Given the description of an element on the screen output the (x, y) to click on. 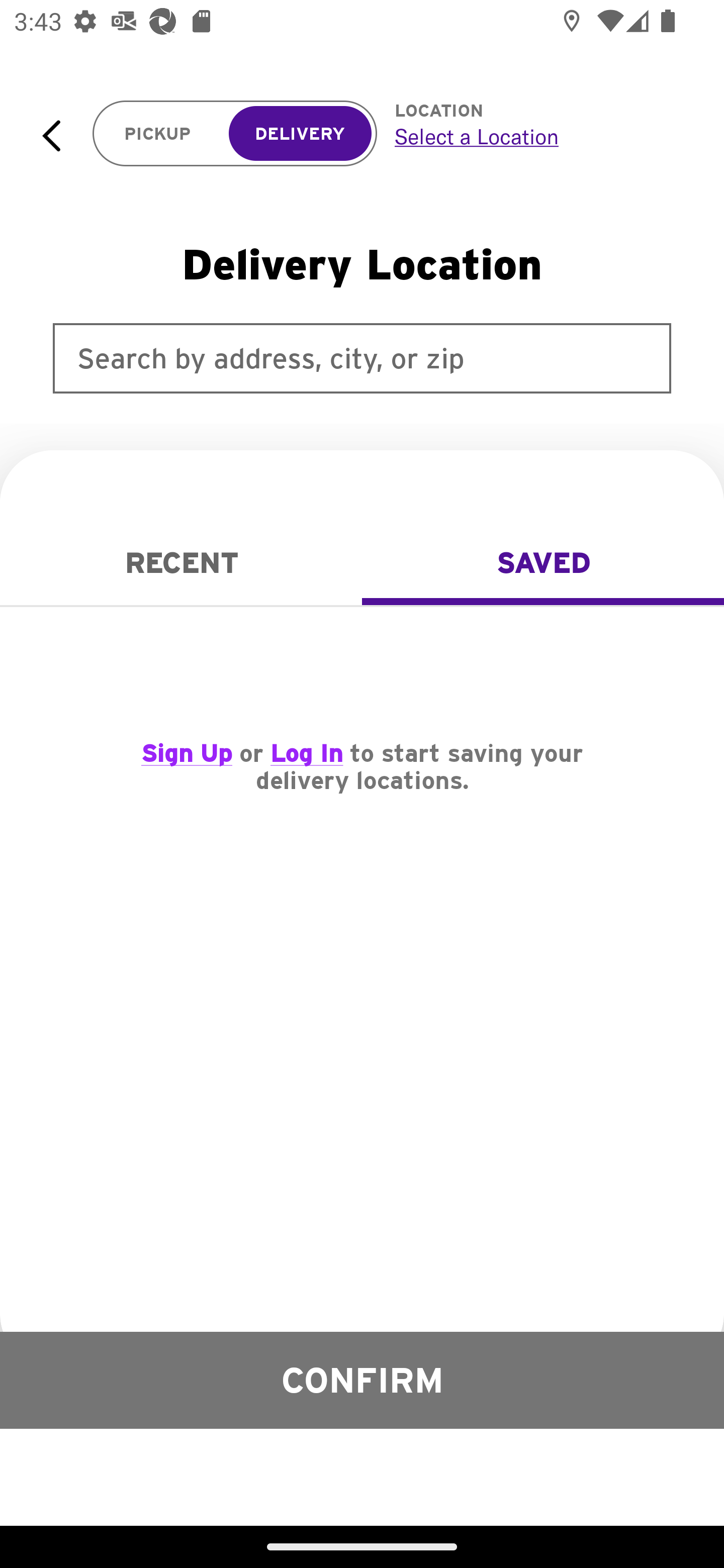
PICKUP (157, 133)
DELIVERY (299, 133)
Select a Location (536, 136)
Search by address, city, or zip (361, 358)
Recent RECENT (181, 562)
CONFIRM (362, 1379)
